Given the description of an element on the screen output the (x, y) to click on. 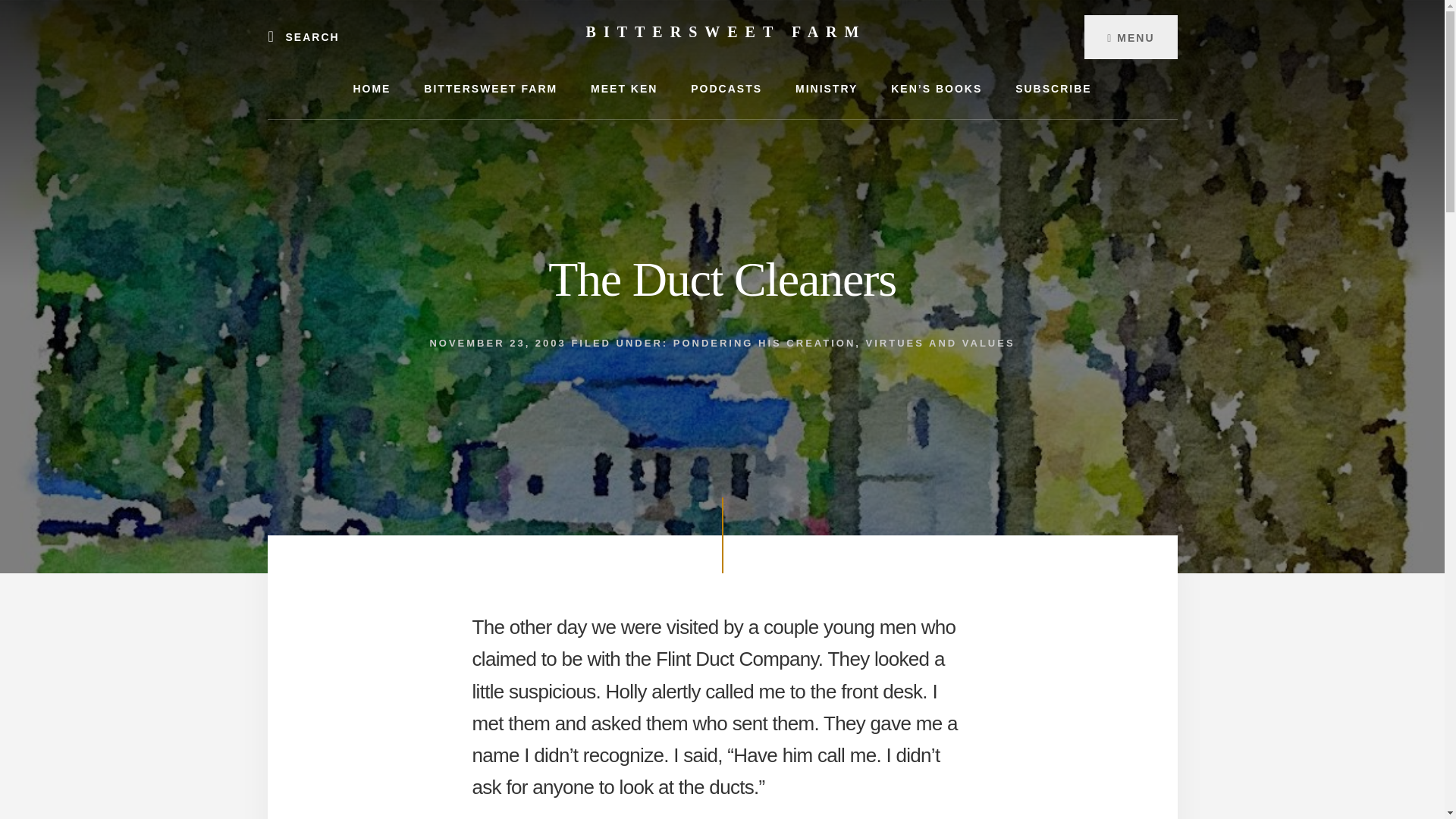
BITTERSWEET FARM (490, 88)
BITTERSWEET FARM (726, 31)
MEET KEN (623, 88)
SUBSCRIBE (1053, 88)
PODCASTS (726, 88)
PONDERING HIS CREATION (764, 342)
HOME (371, 88)
MINISTRY (826, 88)
VIRTUES AND VALUES (940, 342)
MENU (1130, 36)
